Given the description of an element on the screen output the (x, y) to click on. 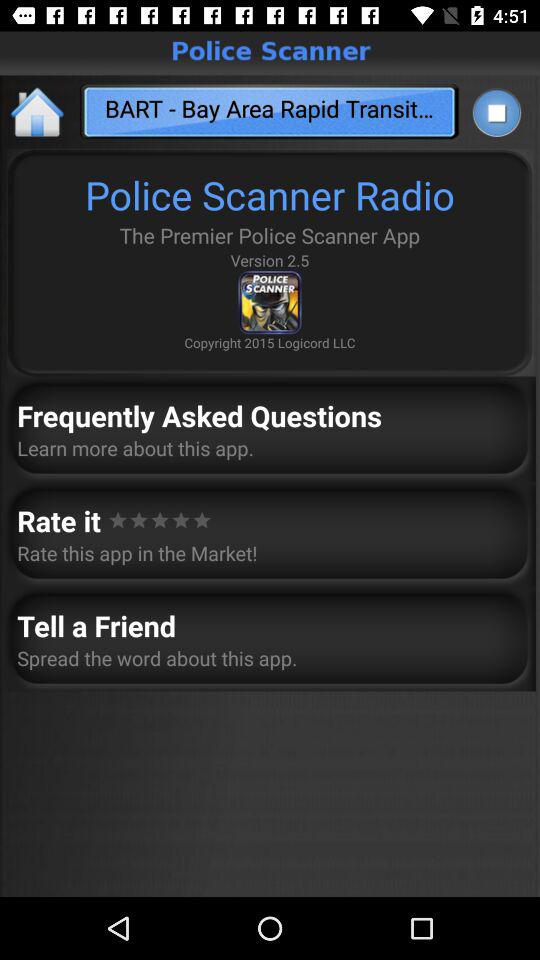
go to the home menu (38, 111)
